Given the description of an element on the screen output the (x, y) to click on. 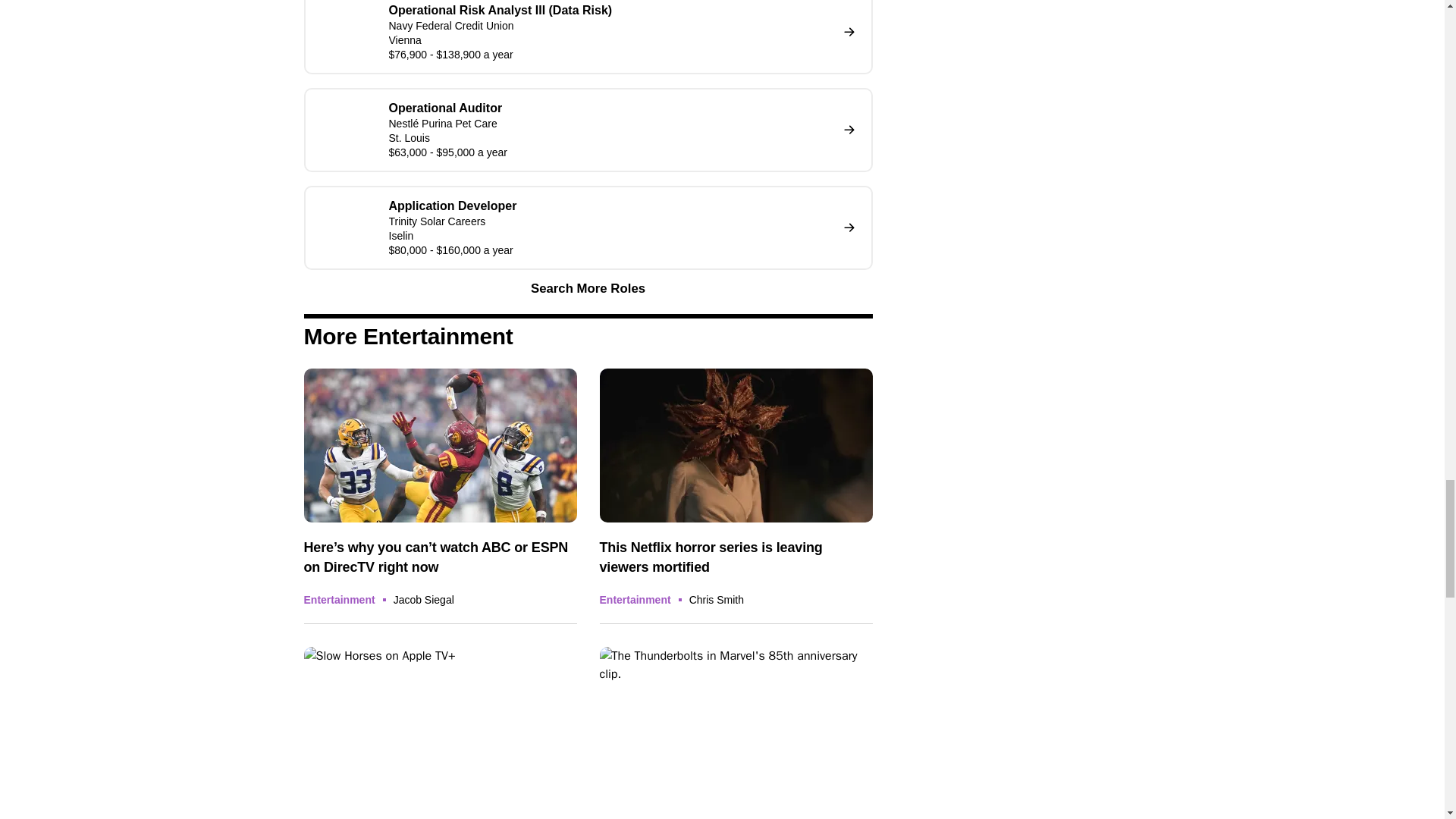
Thunderbolts (735, 723)
Posts by Jacob Siegal (423, 599)
Posts by Chris Smith (716, 599)
DirecTV (439, 445)
Slow Horses (439, 723)
